Given the description of an element on the screen output the (x, y) to click on. 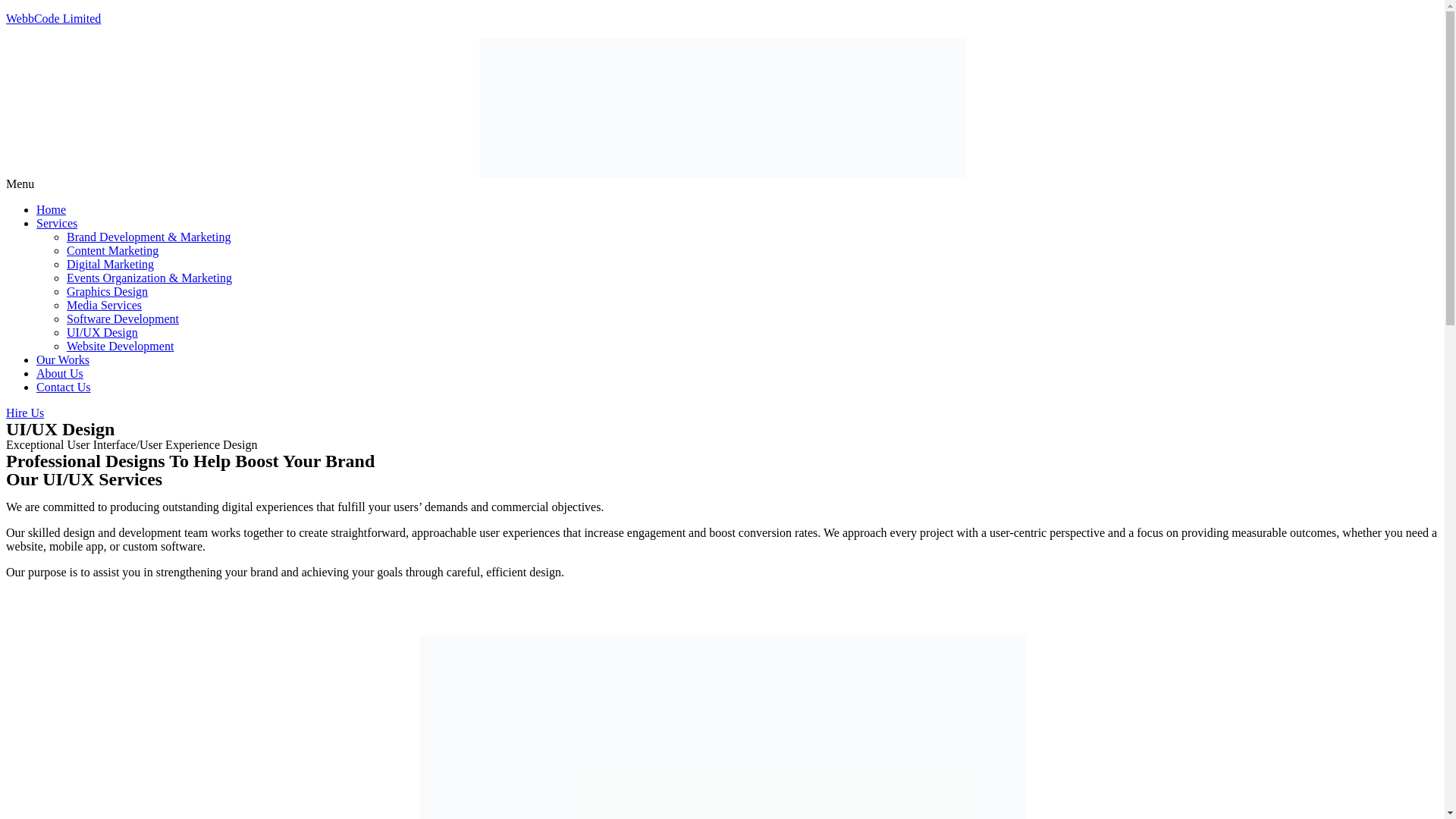
Hire Us (24, 412)
Content Marketing (112, 250)
Hire Us (54, 613)
Media Services (103, 305)
Contact Us (63, 386)
Services (56, 223)
Graphics Design (107, 291)
WebbCode Limited (52, 18)
About Us (59, 373)
Digital Marketing (110, 264)
Website Development (119, 345)
Home (50, 209)
Software Development (122, 318)
WebbCode Limited (52, 18)
Our Works (62, 359)
